Given the description of an element on the screen output the (x, y) to click on. 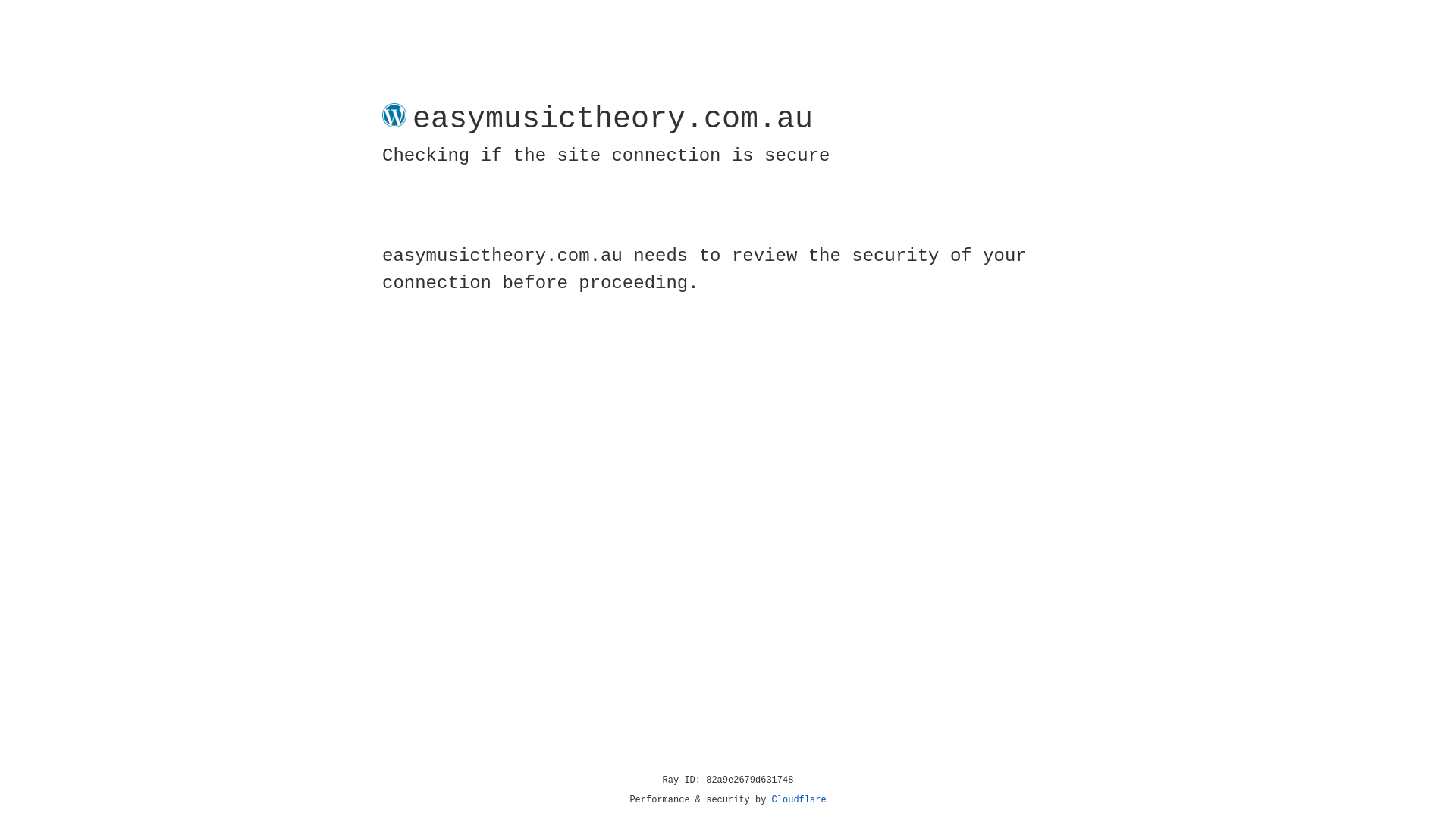
Cloudflare Element type: text (798, 799)
